Given the description of an element on the screen output the (x, y) to click on. 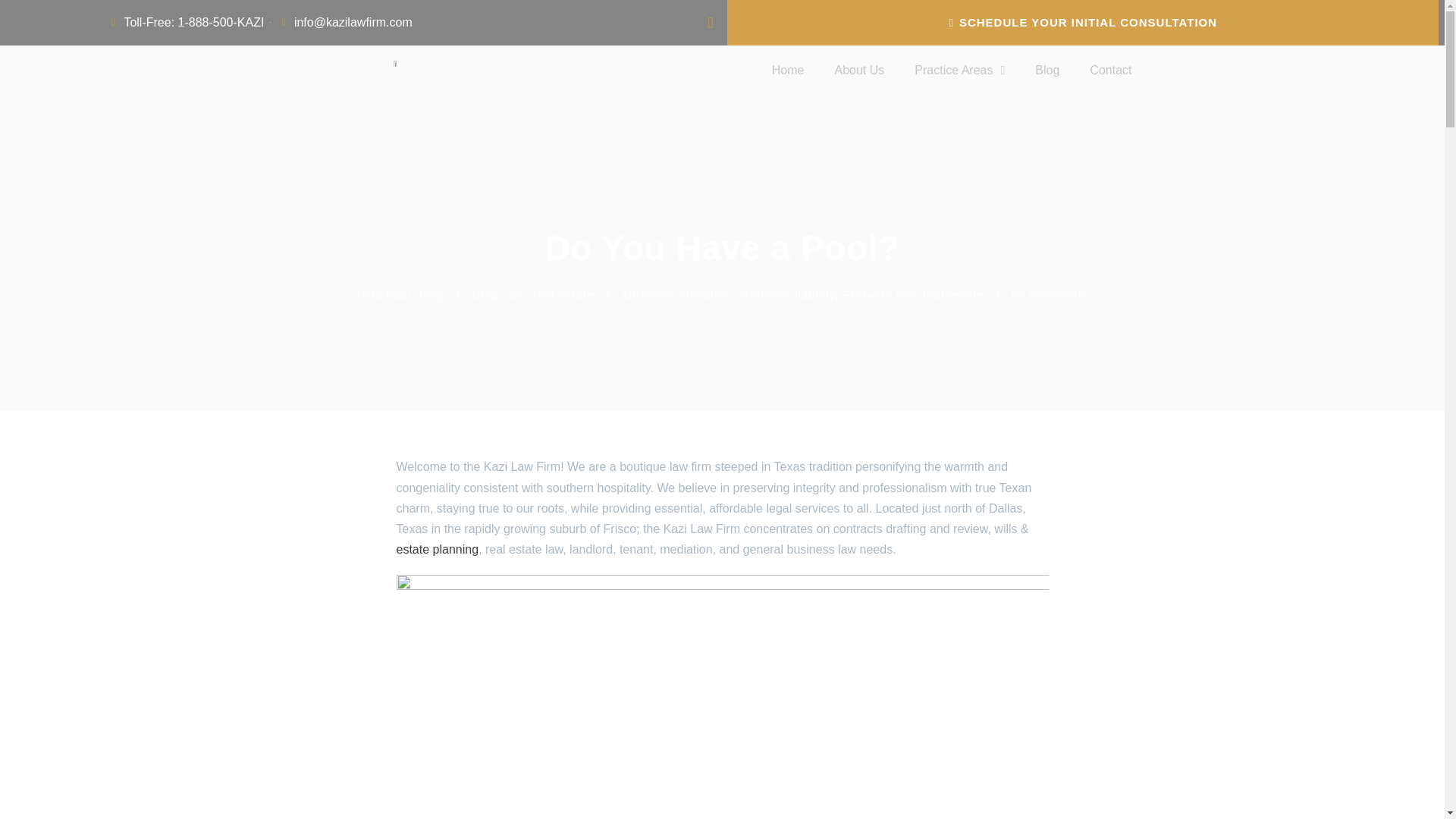
Posts by Nyla Kazi, Esq. (400, 294)
SCHEDULE YOUR INITIAL CONSULTATION (1082, 22)
Practice Areas (959, 70)
Blog (1047, 70)
Home (788, 70)
Toll-Free: 1-888-500-KAZI (184, 22)
About Us (858, 70)
estate planning (437, 549)
Contact (1110, 70)
